Given the description of an element on the screen output the (x, y) to click on. 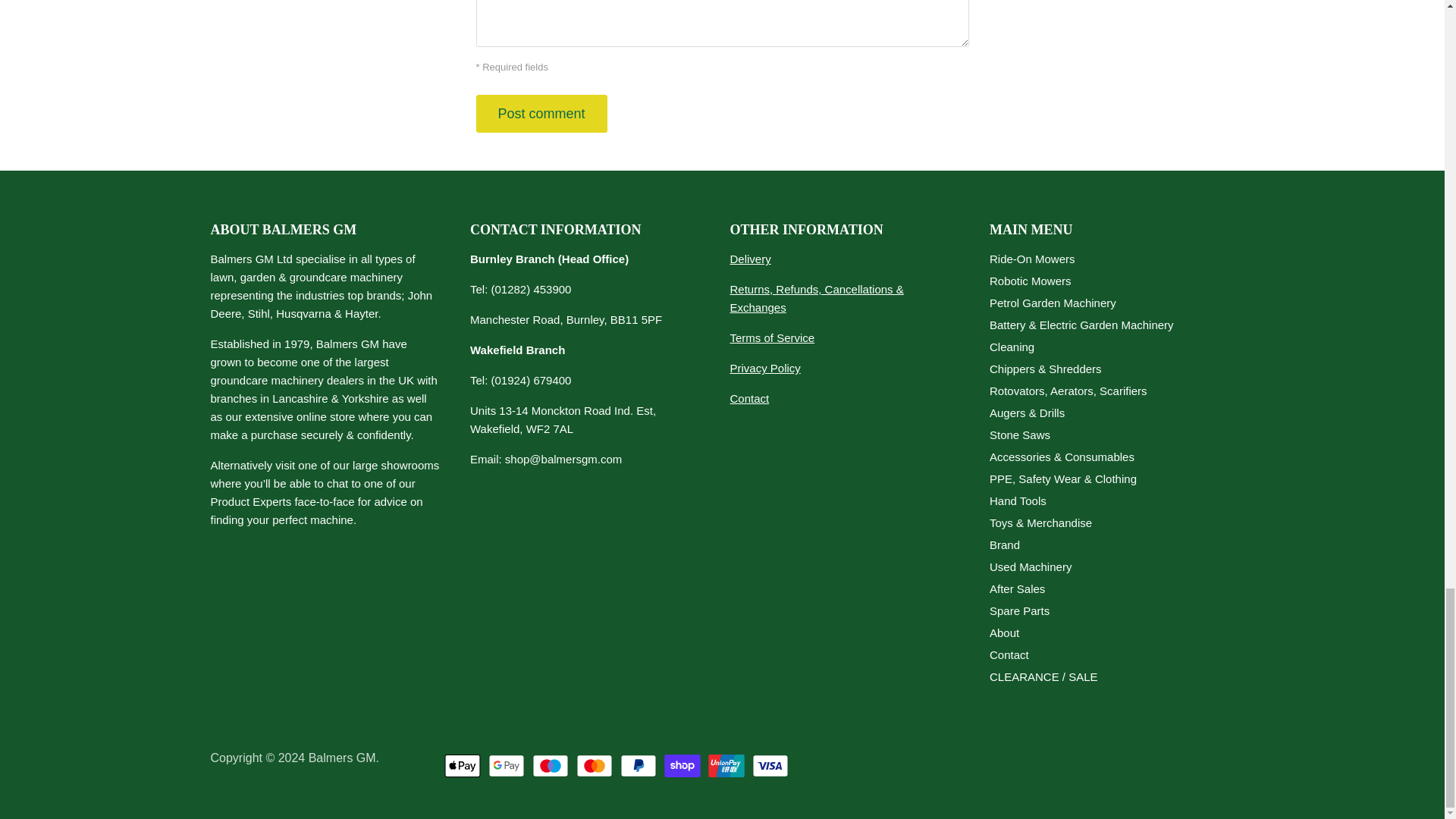
PRIVACY POLICY (764, 367)
Terms of Service (771, 337)
Delivery (749, 258)
